Given the description of an element on the screen output the (x, y) to click on. 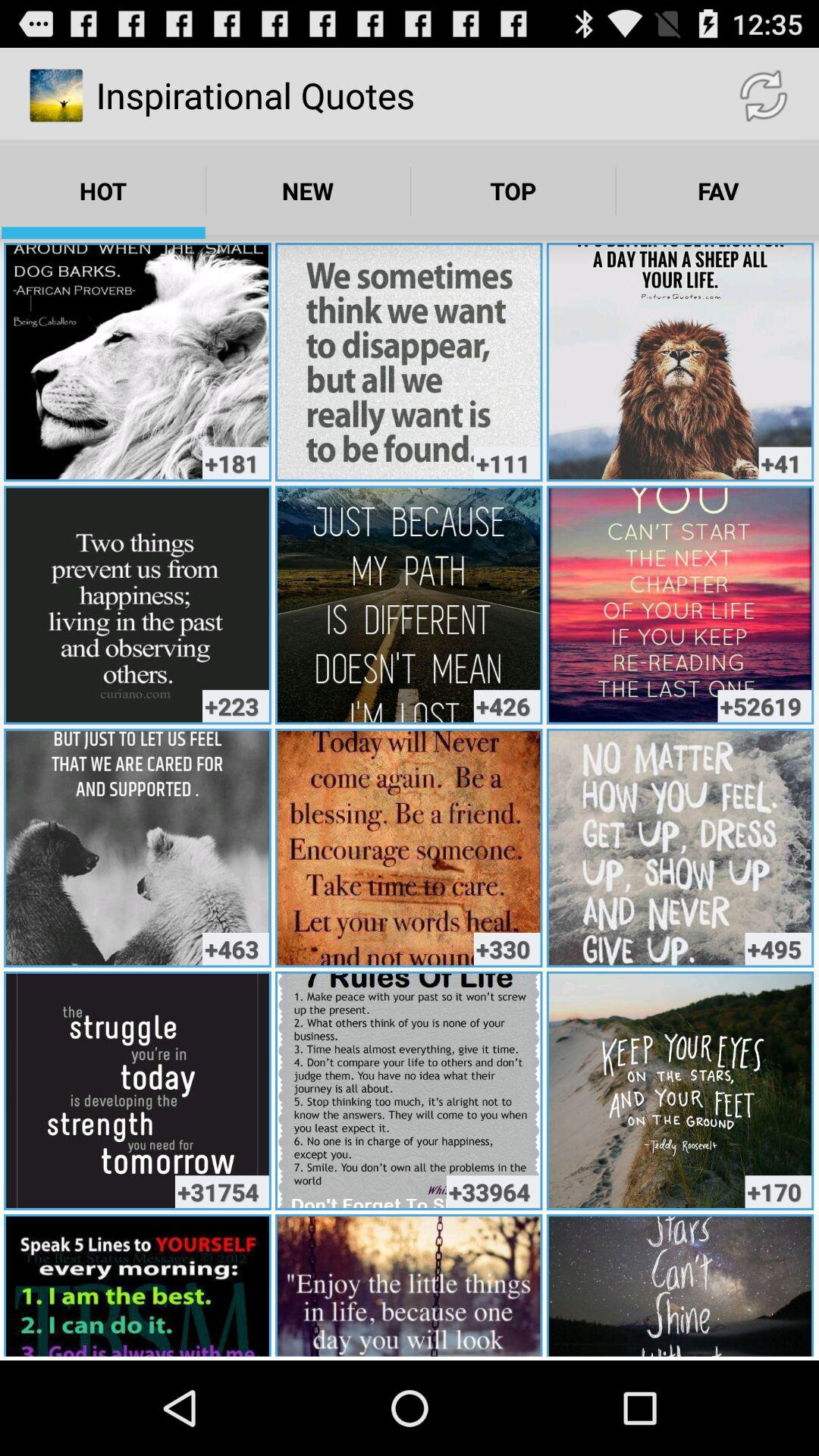
select the second image in the second row (408, 605)
